Given the description of an element on the screen output the (x, y) to click on. 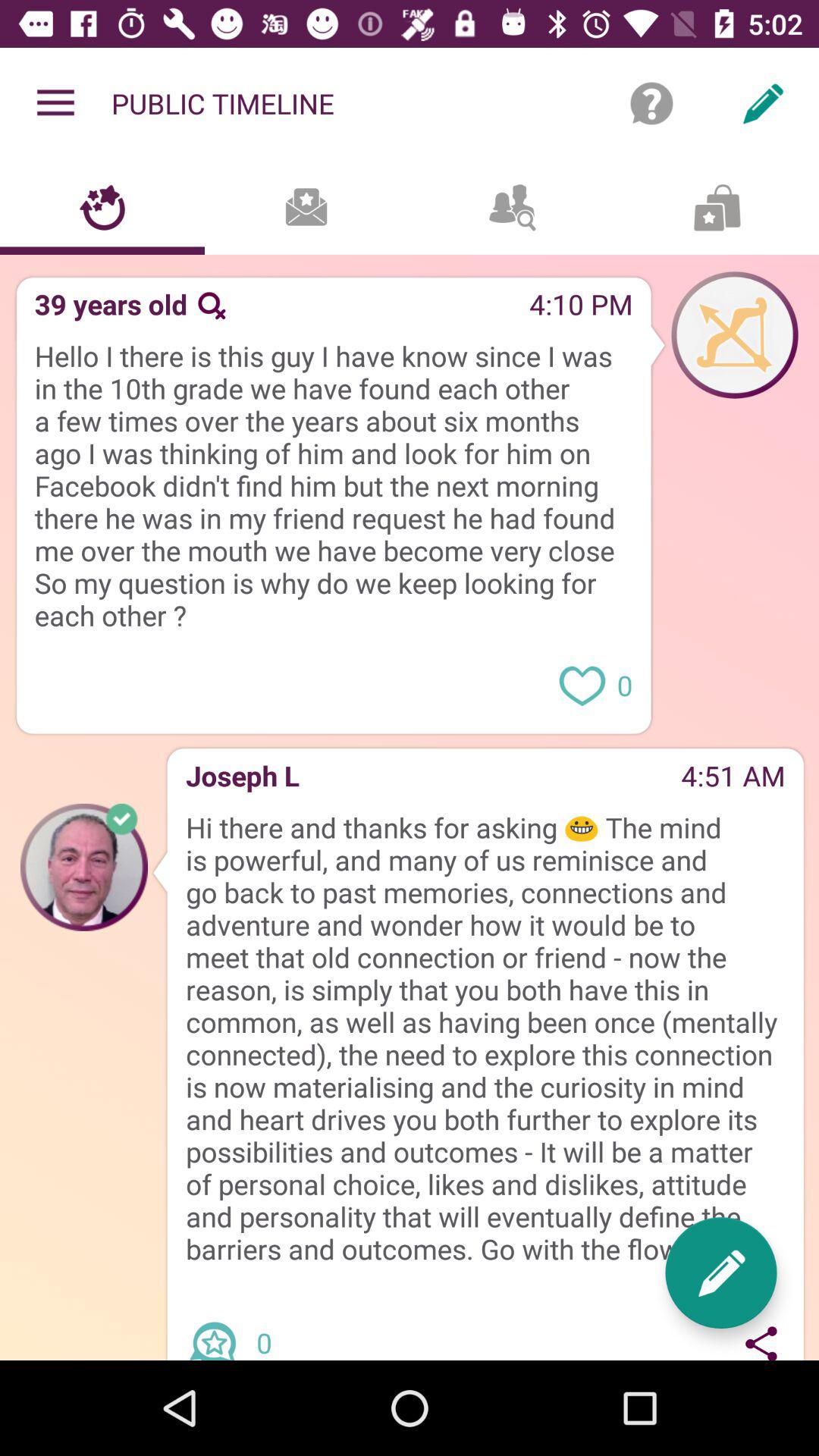
type message (720, 1272)
